Given the description of an element on the screen output the (x, y) to click on. 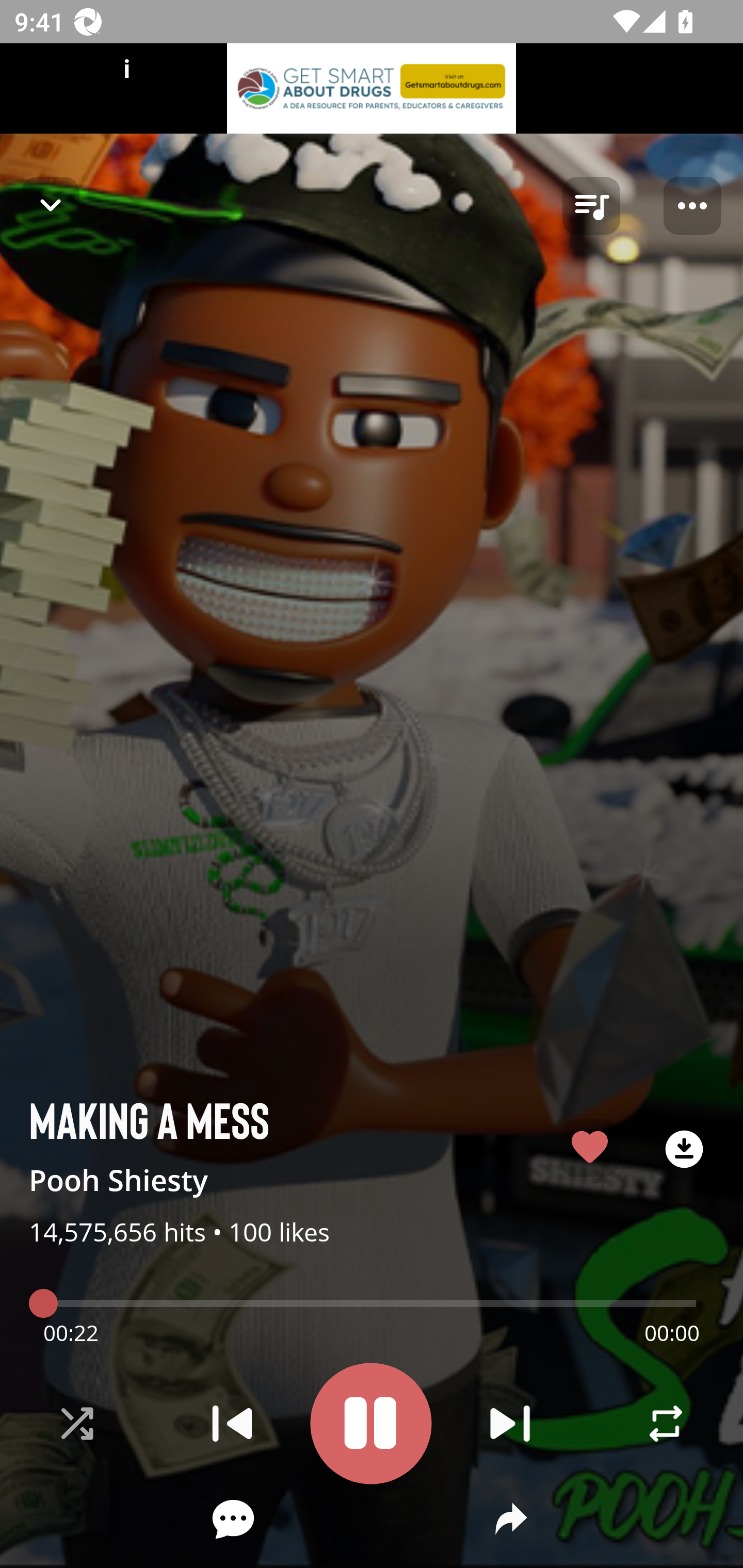
Navigate up (50, 205)
queue (590, 206)
Player options (692, 206)
